Given the description of an element on the screen output the (x, y) to click on. 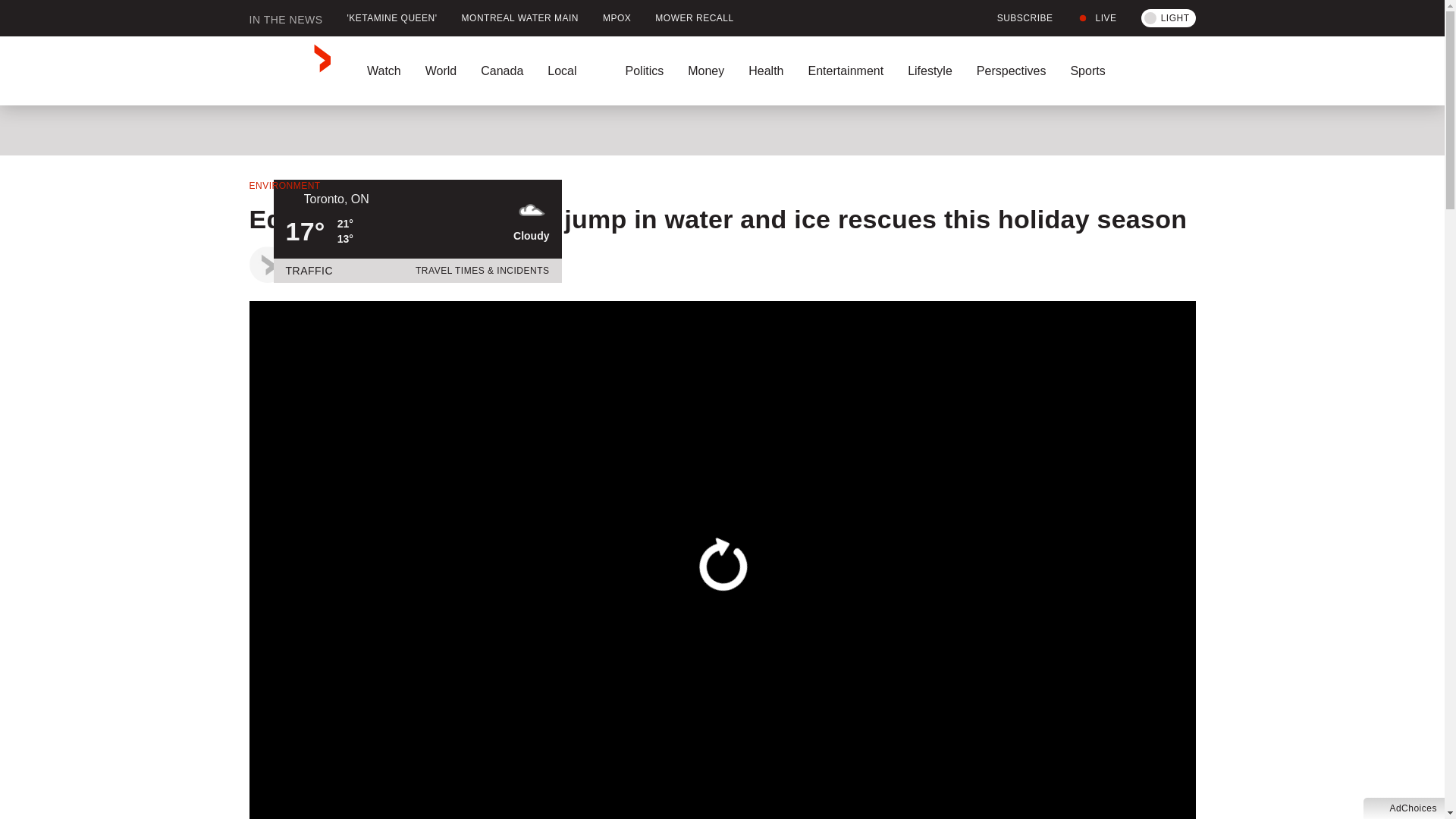
Local (573, 70)
Perspectives (1010, 70)
GlobalNews home (289, 70)
SUBSCRIBE (1015, 18)
LIVE (1096, 18)
MOWER RECALL (694, 18)
MPOX (617, 18)
Lifestyle (929, 70)
'KETAMINE QUEEN' (391, 18)
